Given the description of an element on the screen output the (x, y) to click on. 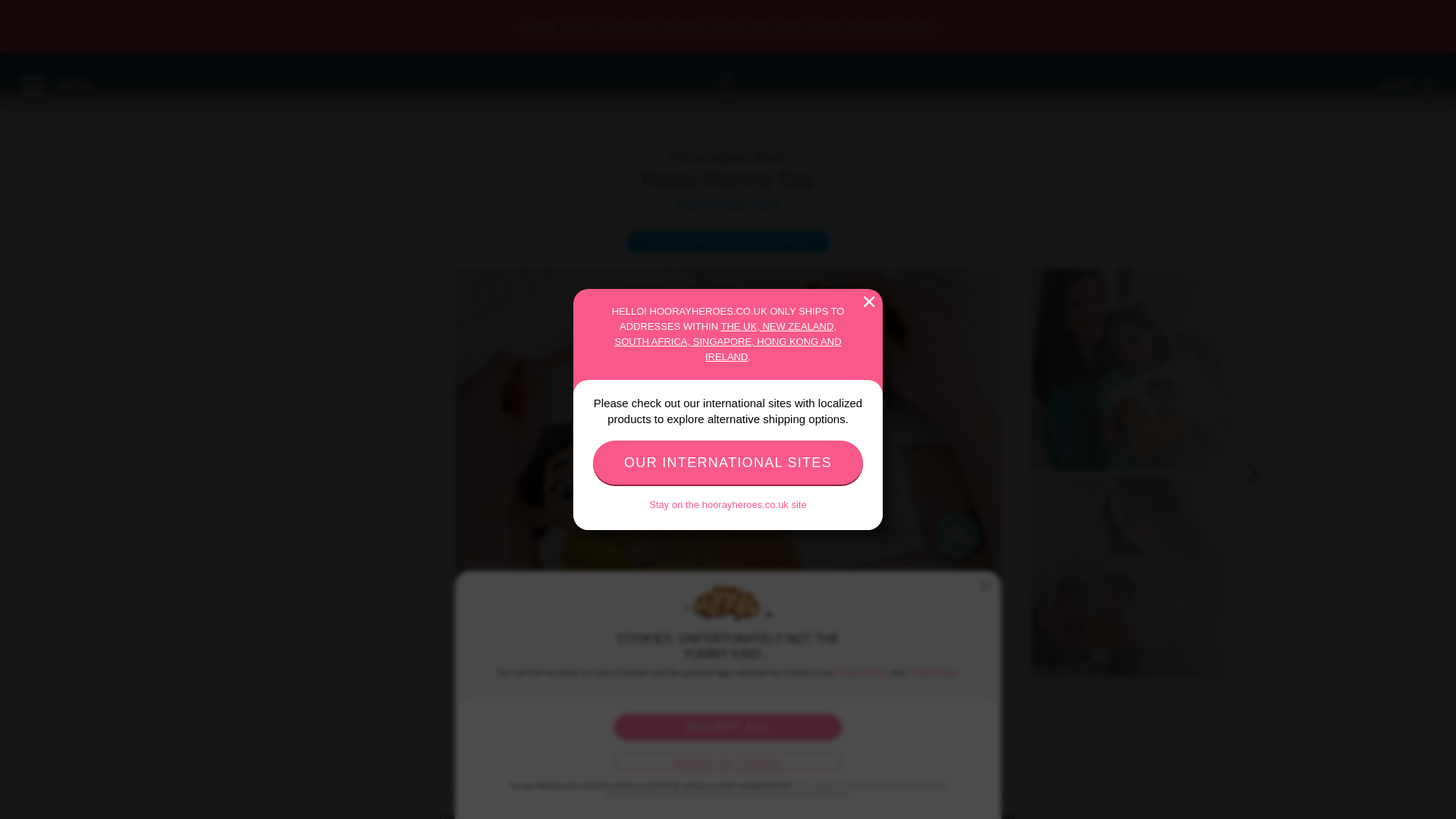
Privacy Policy (861, 672)
